Given the description of an element on the screen output the (x, y) to click on. 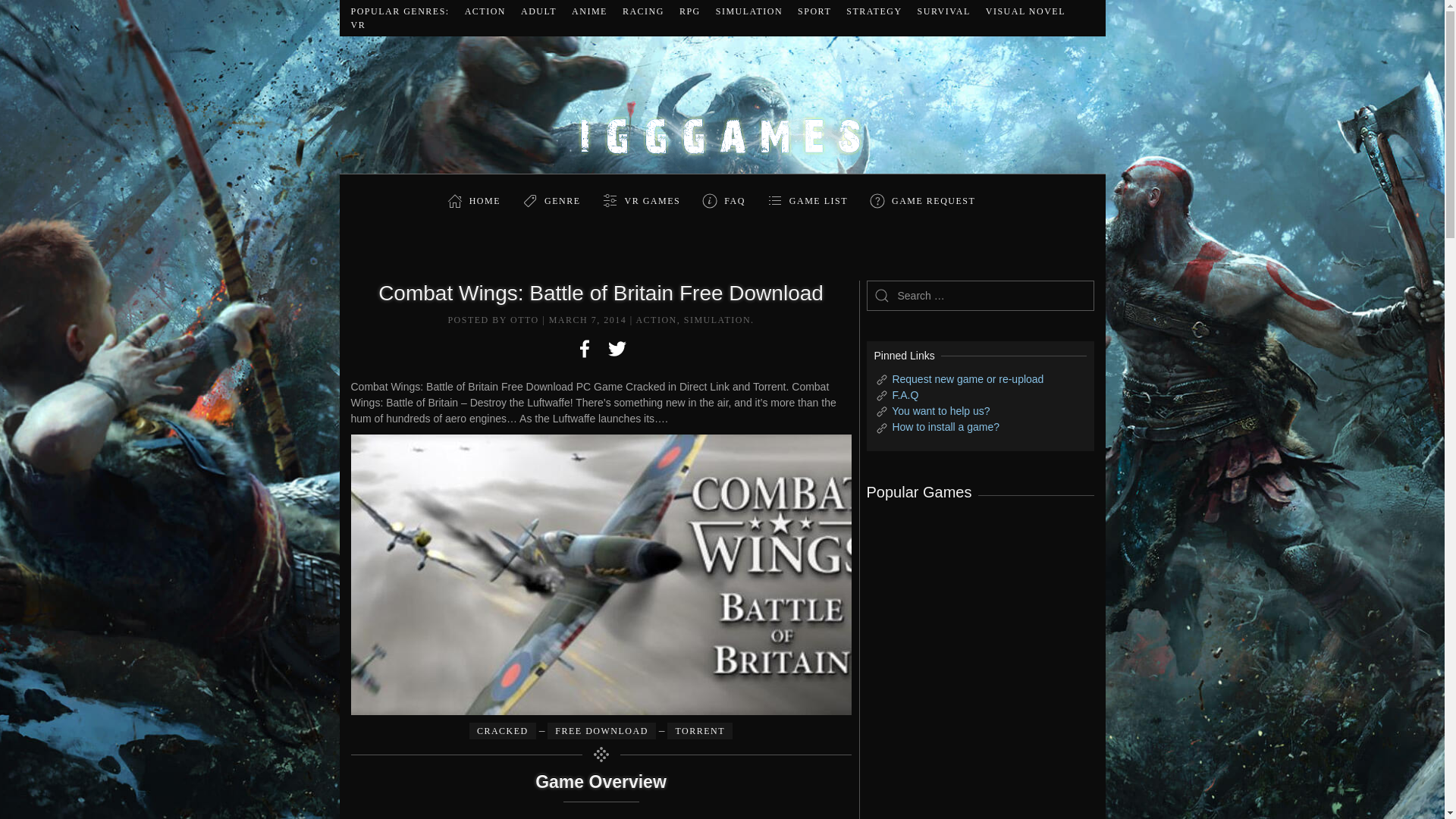
POPULAR GENRES: (399, 11)
